Given the description of an element on the screen output the (x, y) to click on. 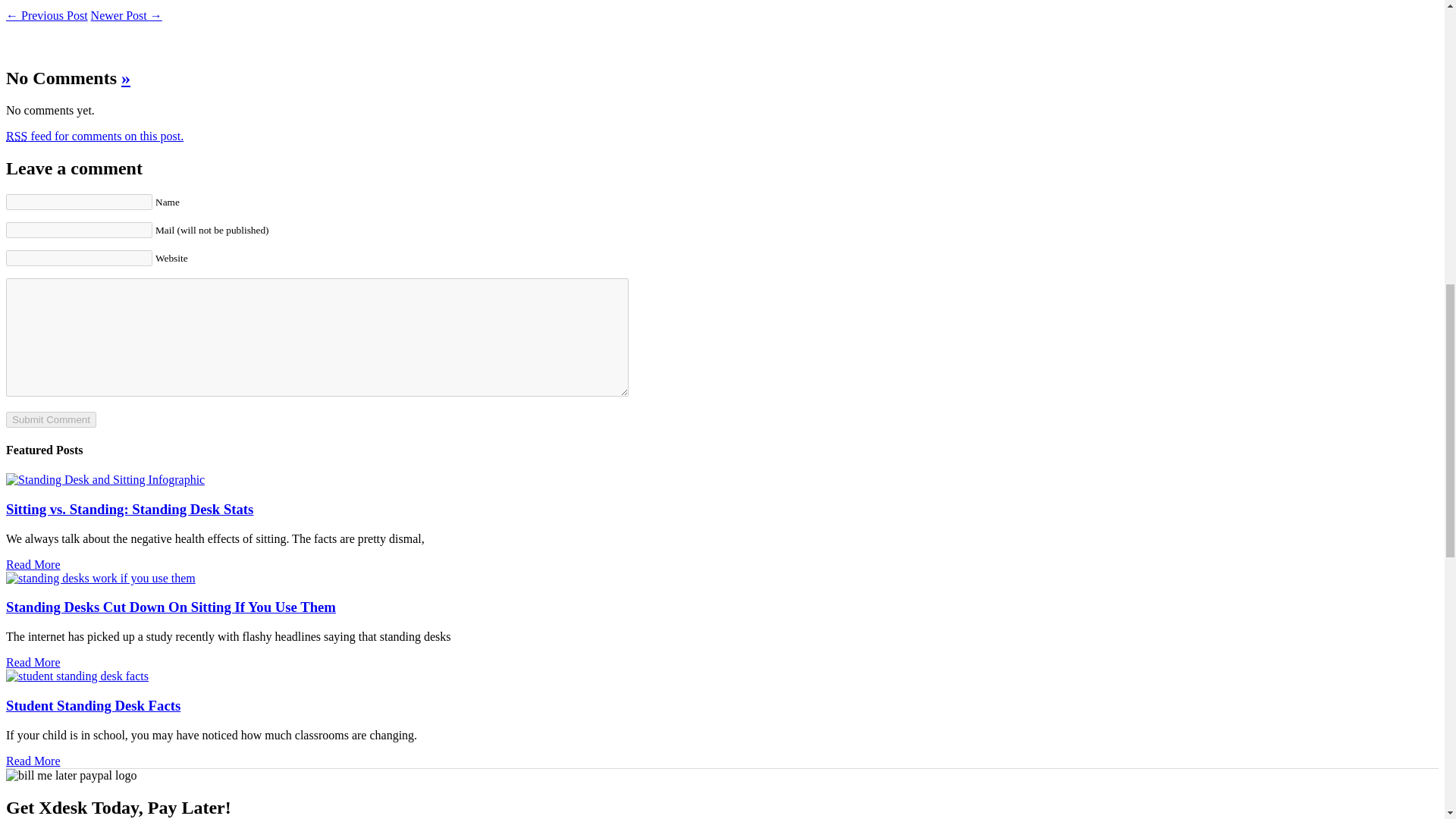
Read More (33, 563)
Sitting vs. Standing: Standing Desk Stats (129, 508)
Read More (33, 662)
RSS feed for comments on this post. (94, 135)
Submit Comment (50, 419)
Standing Desks Cut Down On Sitting If You Use Them (170, 606)
Submit Comment (50, 419)
